Given the description of an element on the screen output the (x, y) to click on. 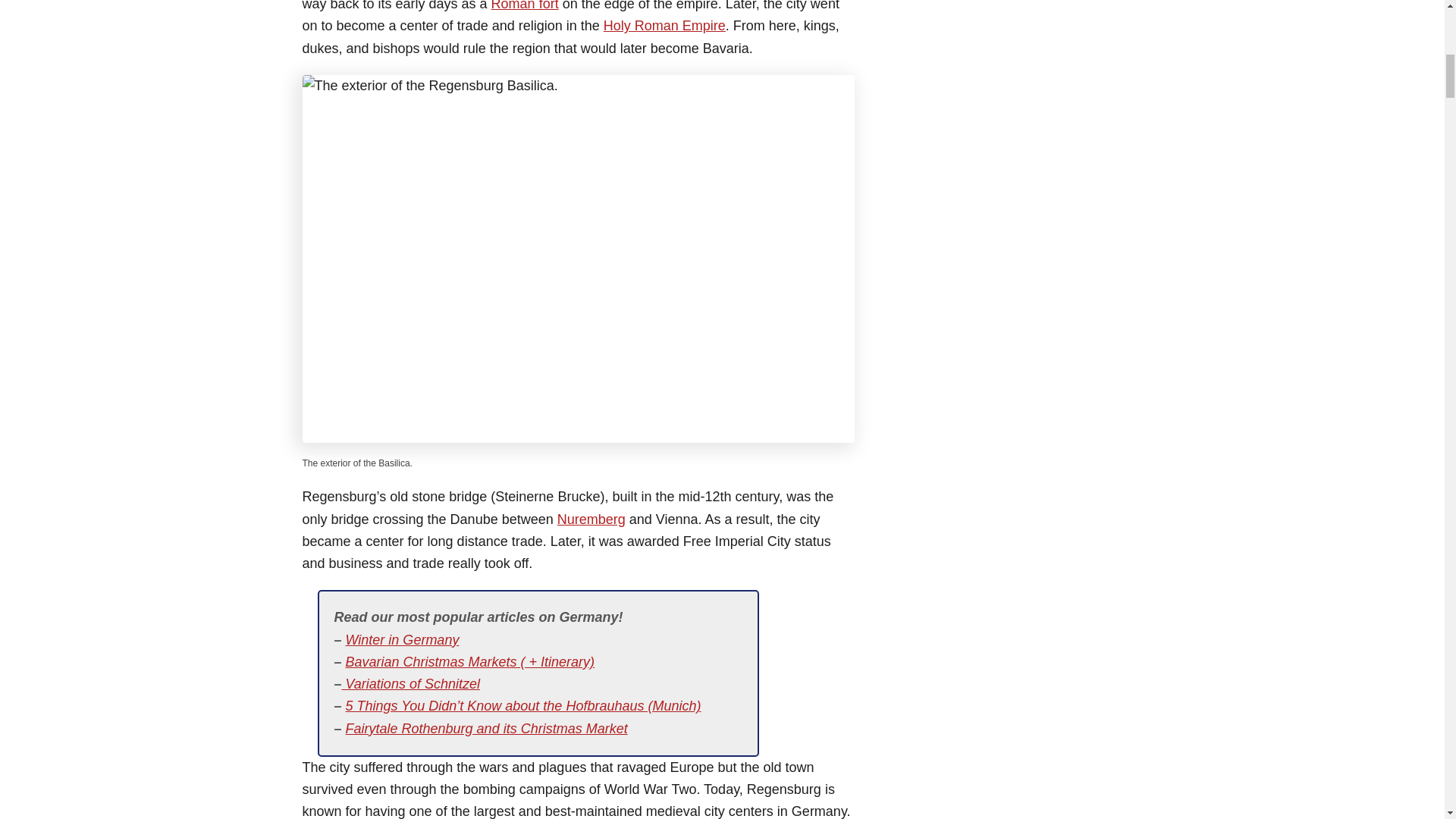
Variations of Schnitzel (411, 683)
Nuremberg (591, 519)
Fairytale Rothenburg and its Christmas Market (486, 728)
Roman fort (525, 5)
Holy Roman Empire (664, 25)
Winter in Germany (403, 639)
